Given the description of an element on the screen output the (x, y) to click on. 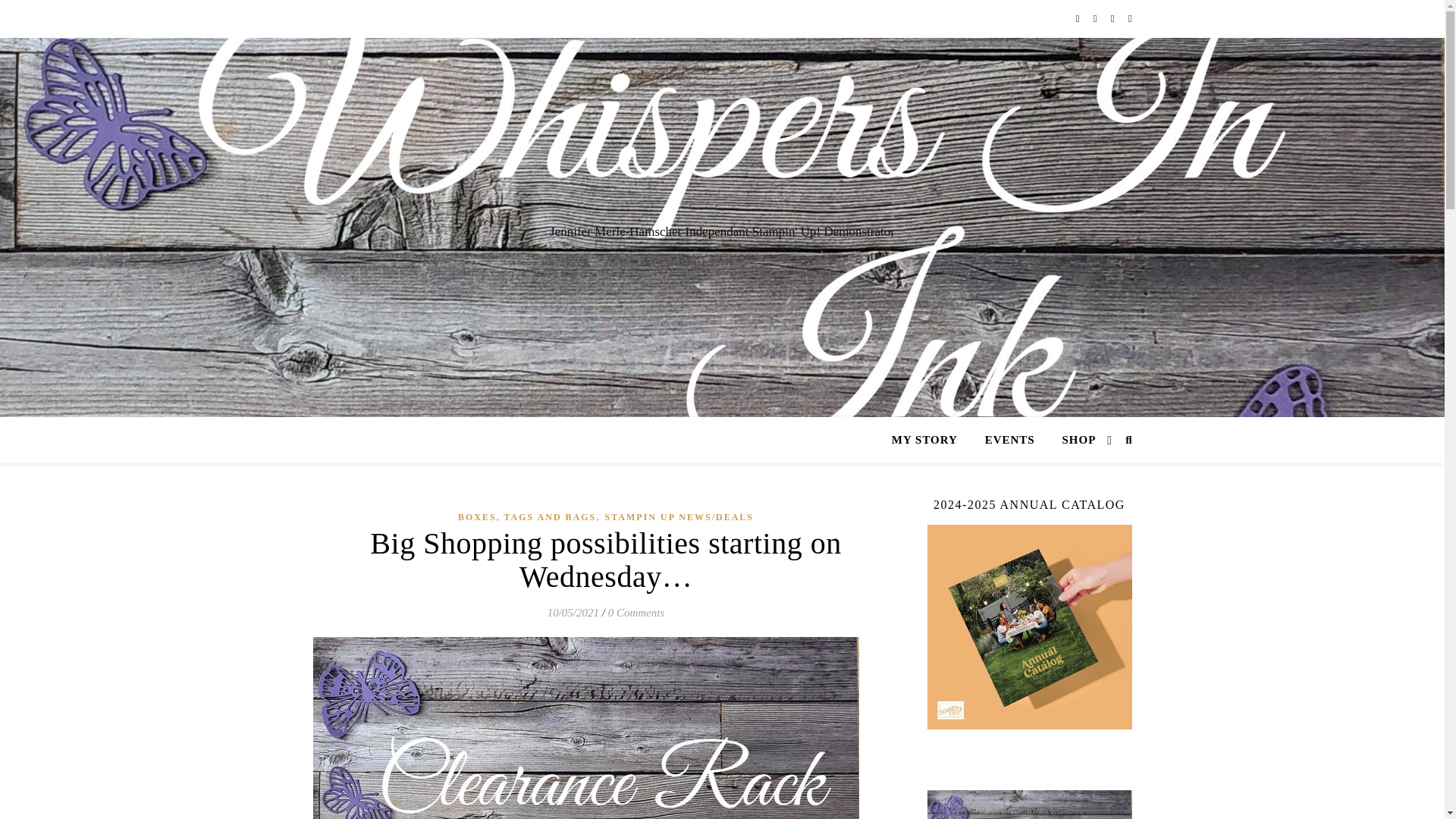
MY STORY (930, 439)
EVENTS (1009, 439)
BOXES, TAGS AND BAGS (526, 517)
SHOP (1072, 439)
0 Comments (636, 612)
